Given the description of an element on the screen output the (x, y) to click on. 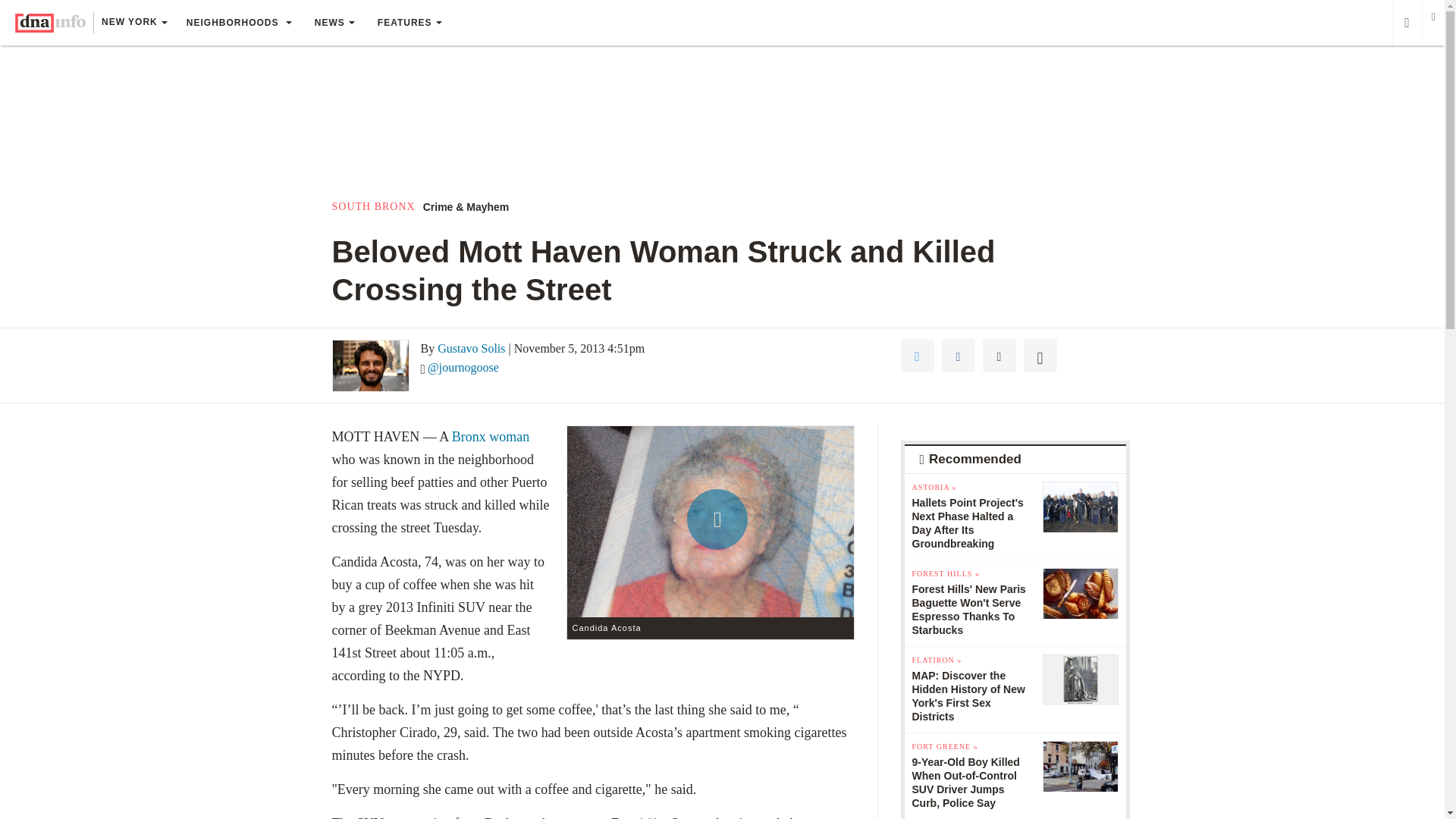
NEWS (334, 22)
NEIGHBORHOODS (238, 22)
NEW YORK (133, 23)
New York - Home (49, 22)
